Given the description of an element on the screen output the (x, y) to click on. 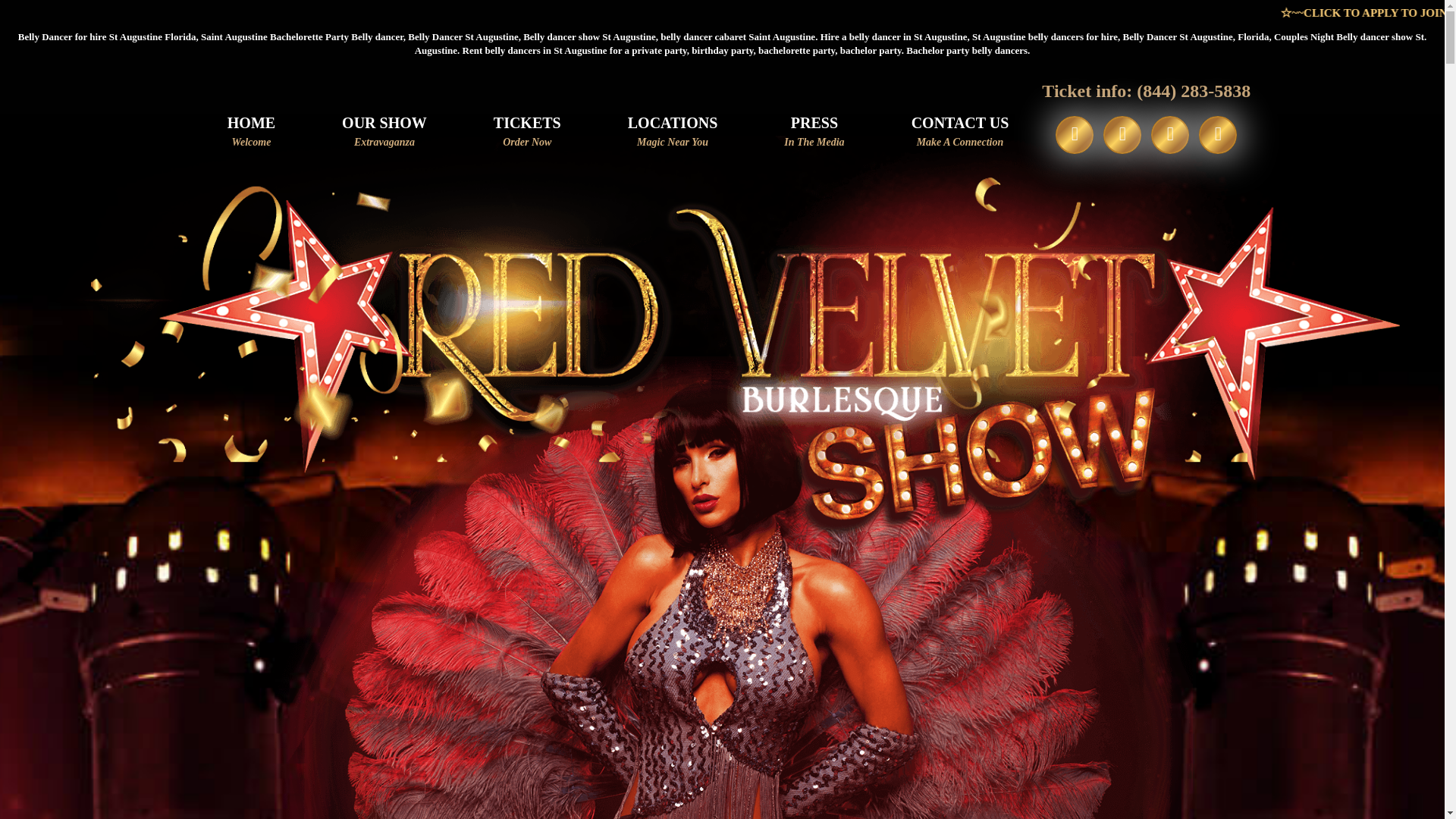
Red Velvet (960, 145)
